Given the description of an element on the screen output the (x, y) to click on. 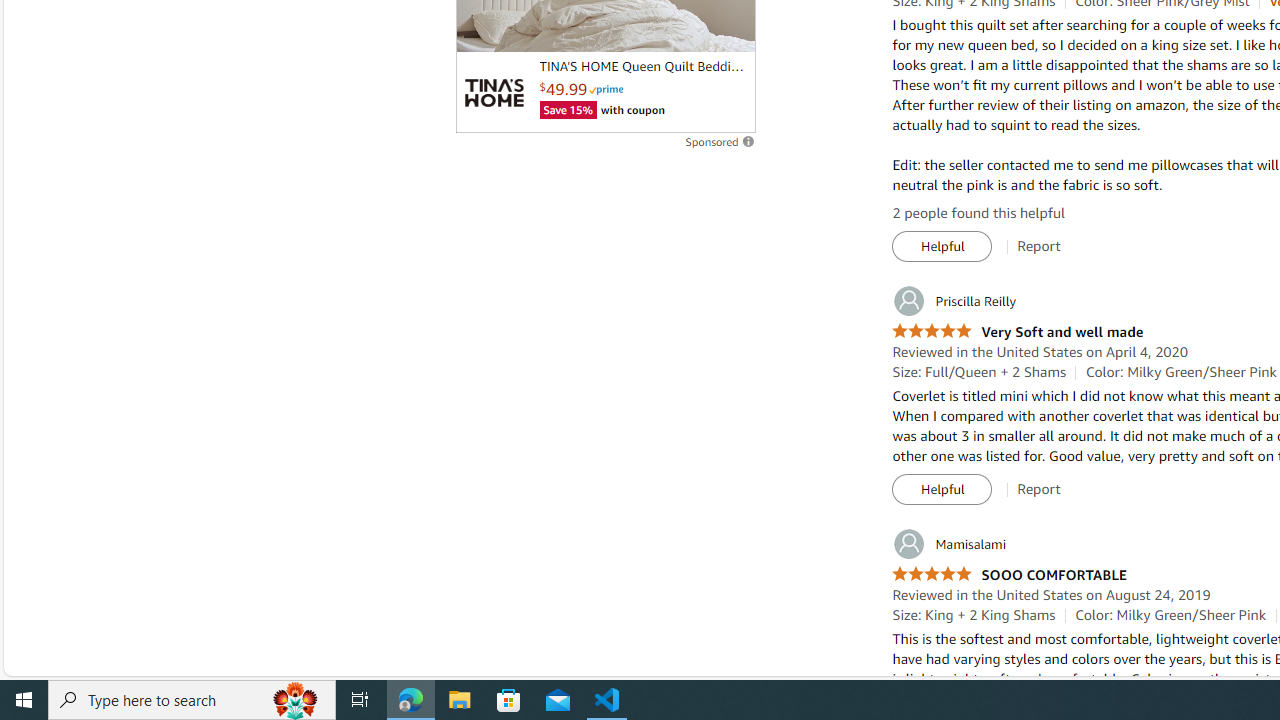
Pause (481, 28)
Helpful (942, 489)
5.0 out of 5 stars SOOO COMFORTABLE (1009, 574)
Unmute (729, 28)
Prime (605, 89)
5.0 out of 5 stars Very Soft and well made (1018, 332)
Logo (493, 92)
Mamisalami (949, 544)
Report (1039, 489)
Priscilla Reilly (954, 300)
